Given the description of an element on the screen output the (x, y) to click on. 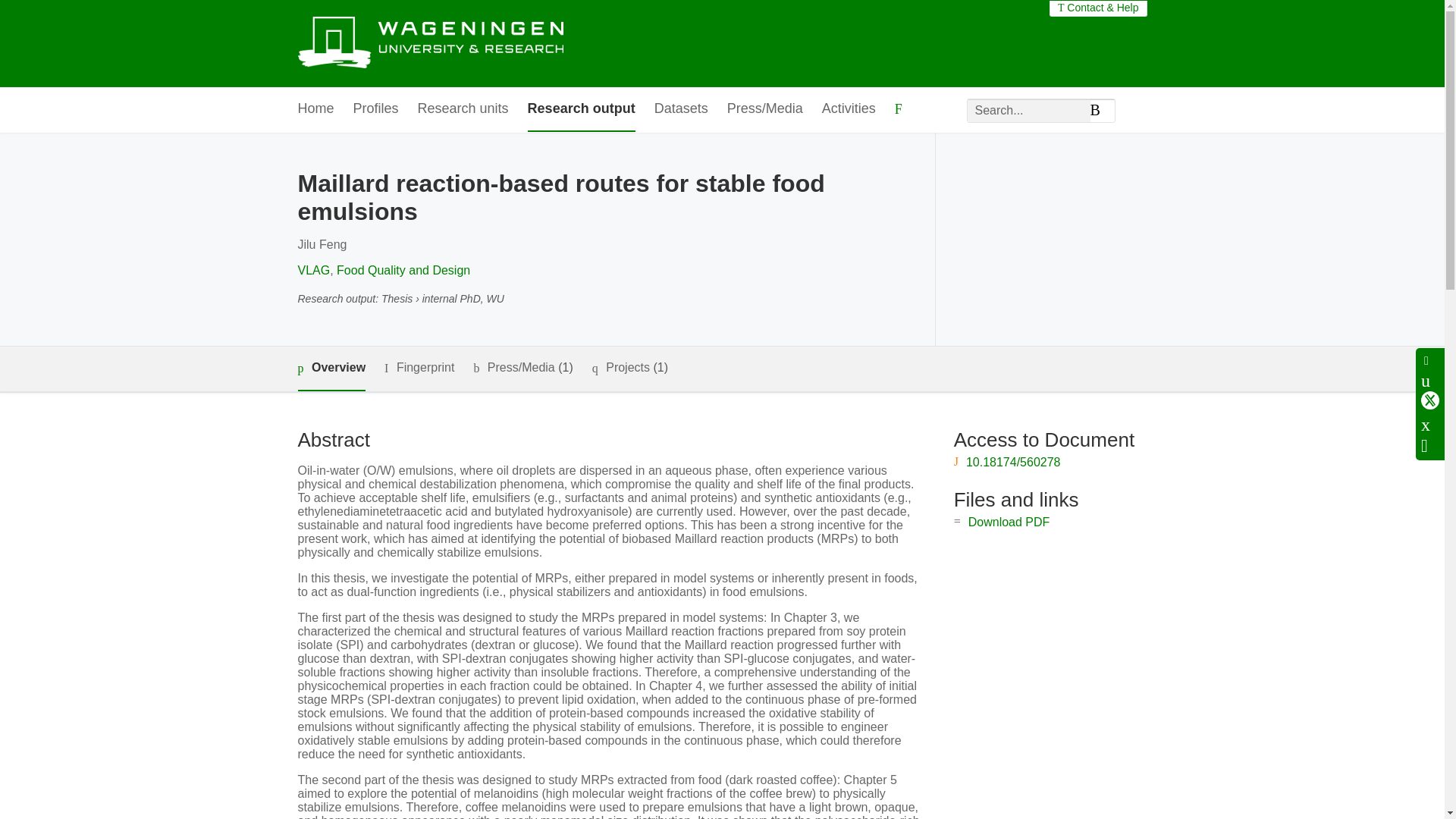
Download PDF (1008, 521)
Food Quality and Design (403, 269)
Profiles (375, 108)
Activities (849, 108)
Overview (331, 368)
Fingerprint (419, 367)
Datasets (680, 108)
Research units (462, 108)
VLAG (313, 269)
